Given the description of an element on the screen output the (x, y) to click on. 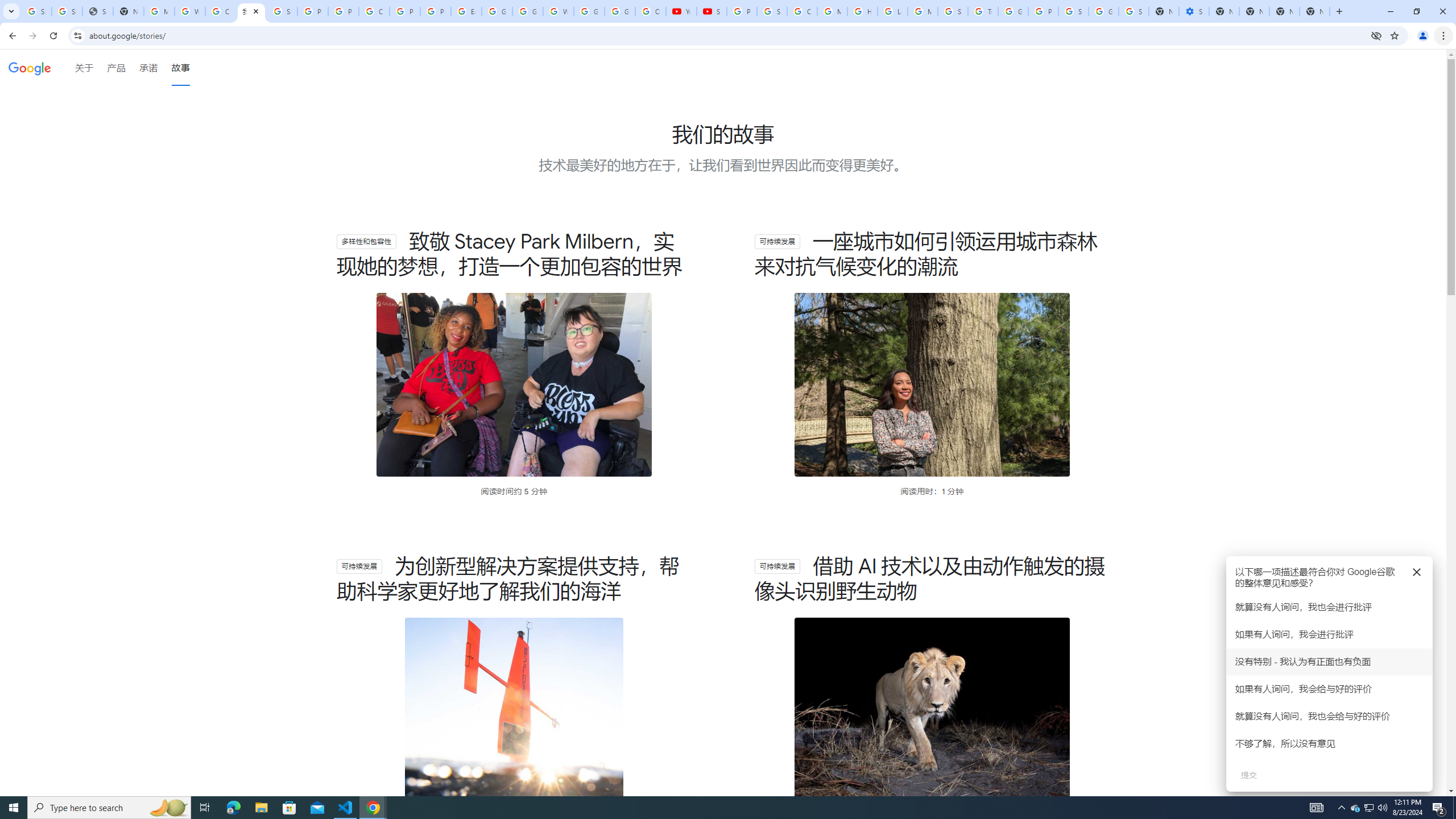
New Tab (1314, 11)
Search our Doodle Library Collection - Google Doodles (952, 11)
Who is my administrator? - Google Account Help (189, 11)
Google Cybersecurity Innovations - Google Safety Center (1103, 11)
